Given the description of an element on the screen output the (x, y) to click on. 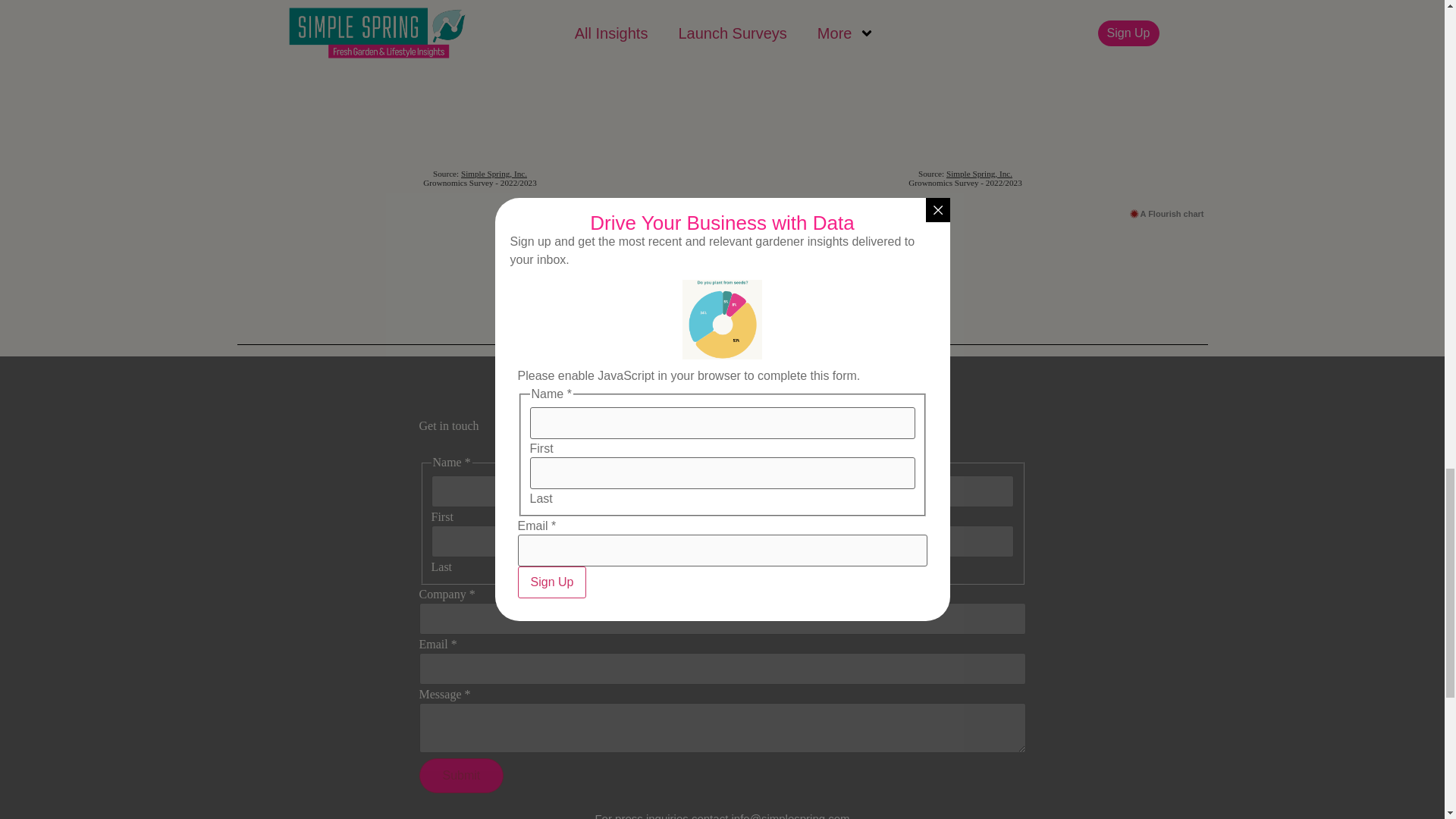
Interactive or visual content (964, 100)
A Flourish chart (1166, 213)
Interactive or visual content (478, 100)
A Flourish chart (681, 213)
